Given the description of an element on the screen output the (x, y) to click on. 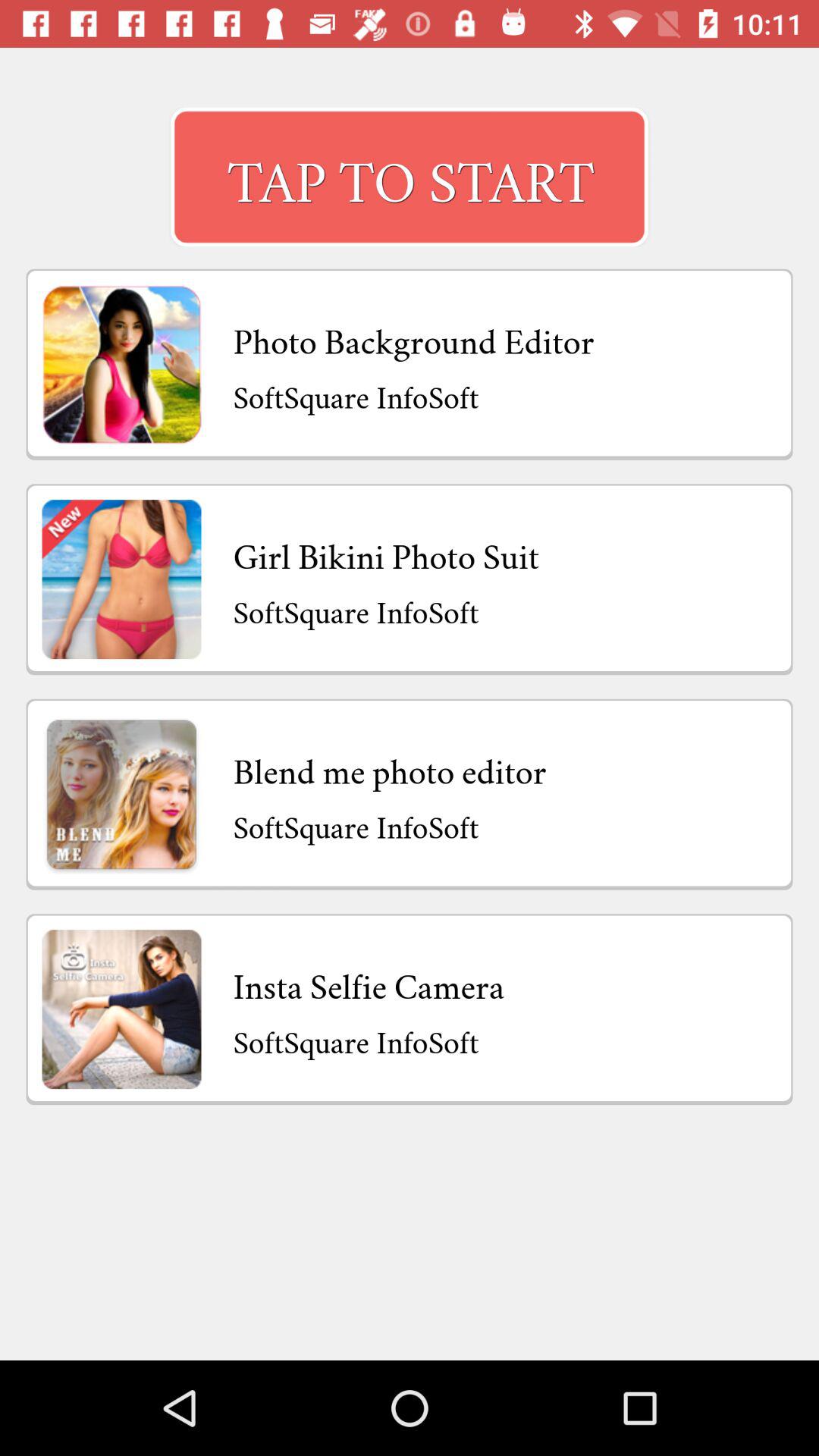
click the item above softsquare infosoft (386, 552)
